Given the description of an element on the screen output the (x, y) to click on. 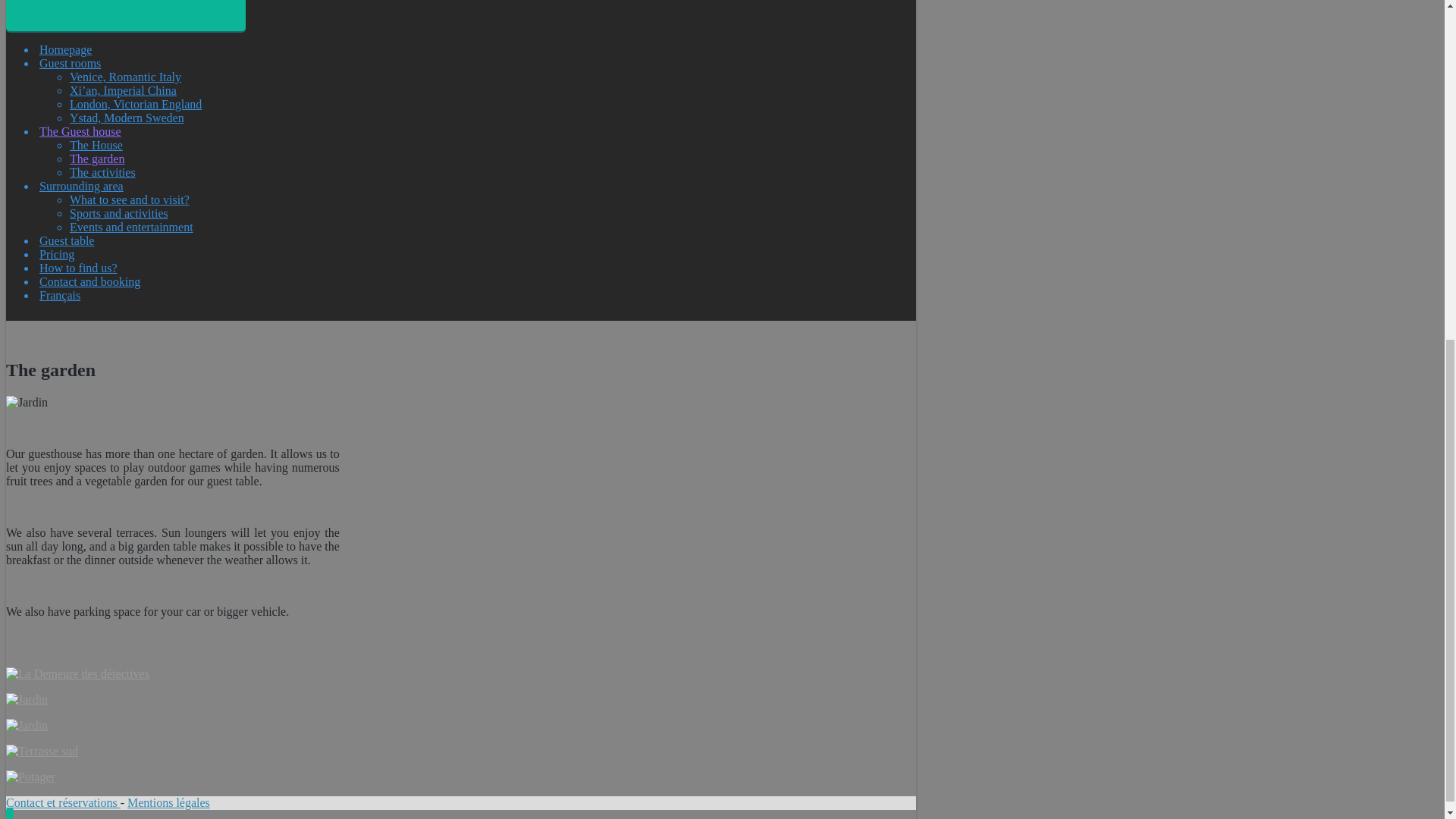
Pricing (56, 254)
The Guest house (79, 131)
The House (95, 144)
Sports and activities (118, 213)
Guest rooms (69, 62)
Venice, Romantic Italy (124, 76)
Ystad, Modern Sweden (126, 117)
Surrounding area (81, 185)
Homepage (65, 49)
Guest table (66, 240)
The garden (96, 158)
What to see and to visit? (129, 199)
Events and entertainment (131, 226)
London, Victorian England (135, 103)
How to find us? (78, 267)
